Given the description of an element on the screen output the (x, y) to click on. 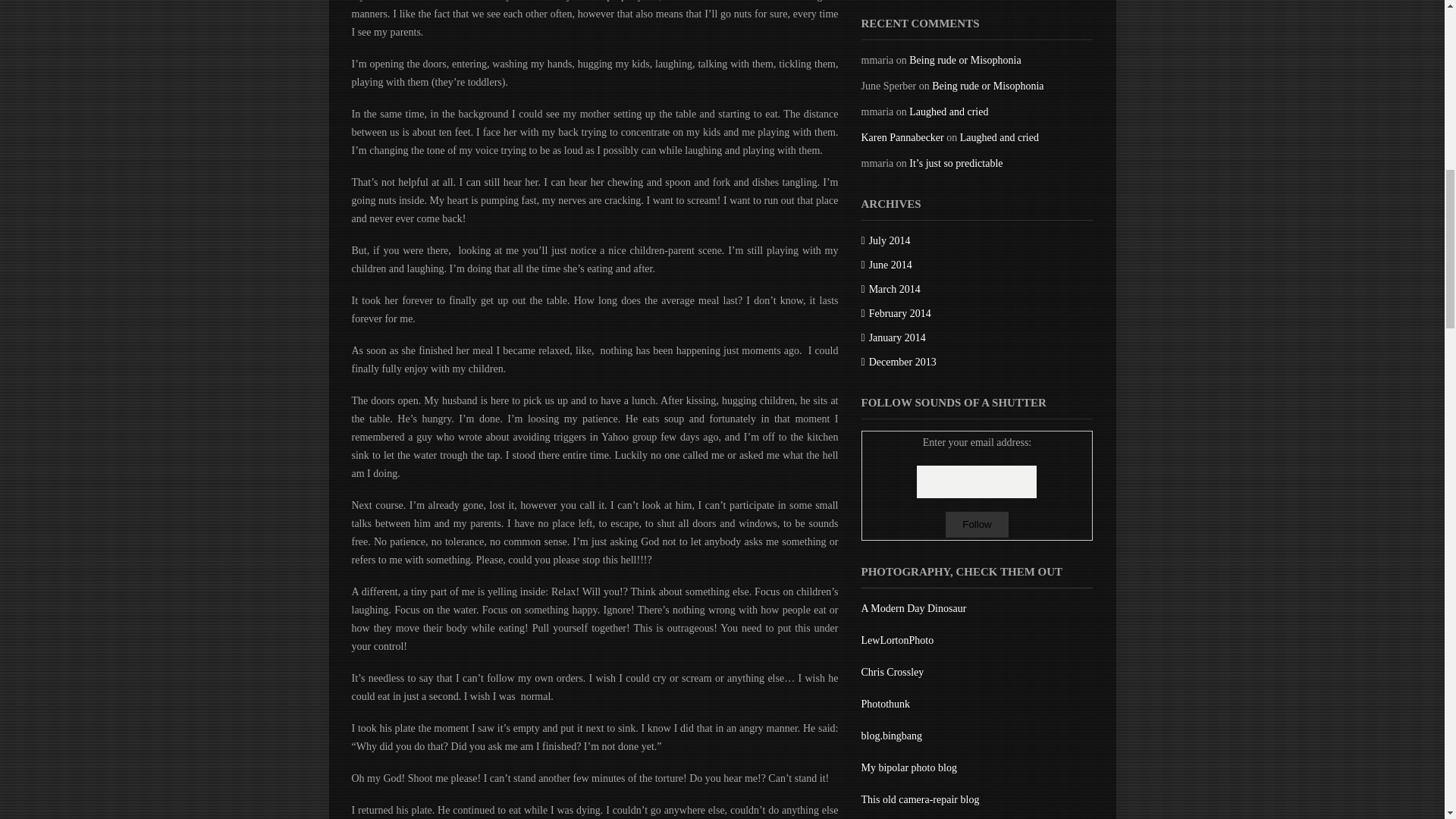
Follow (976, 524)
